Given the description of an element on the screen output the (x, y) to click on. 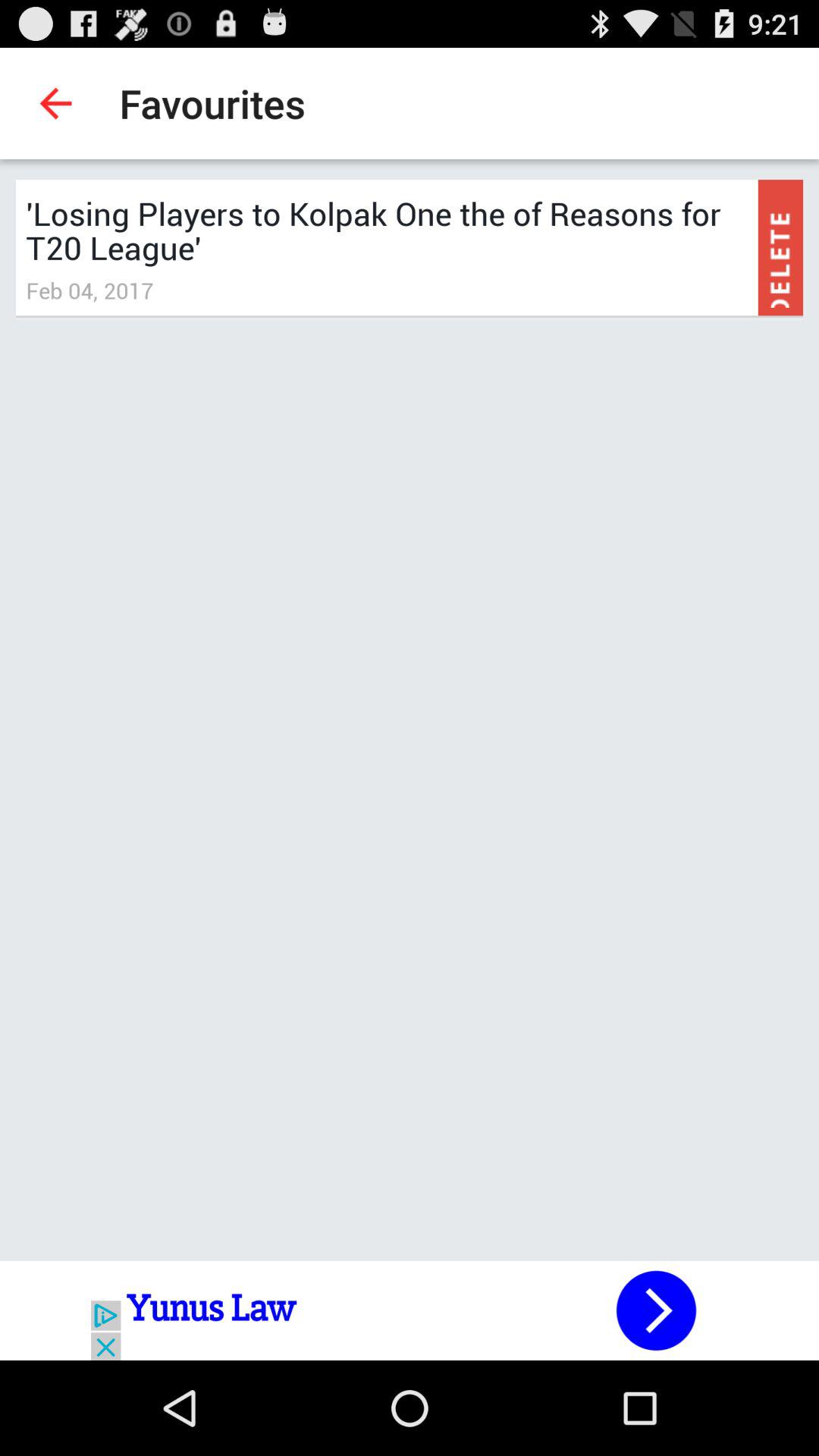
go back (409, 1310)
